Given the description of an element on the screen output the (x, y) to click on. 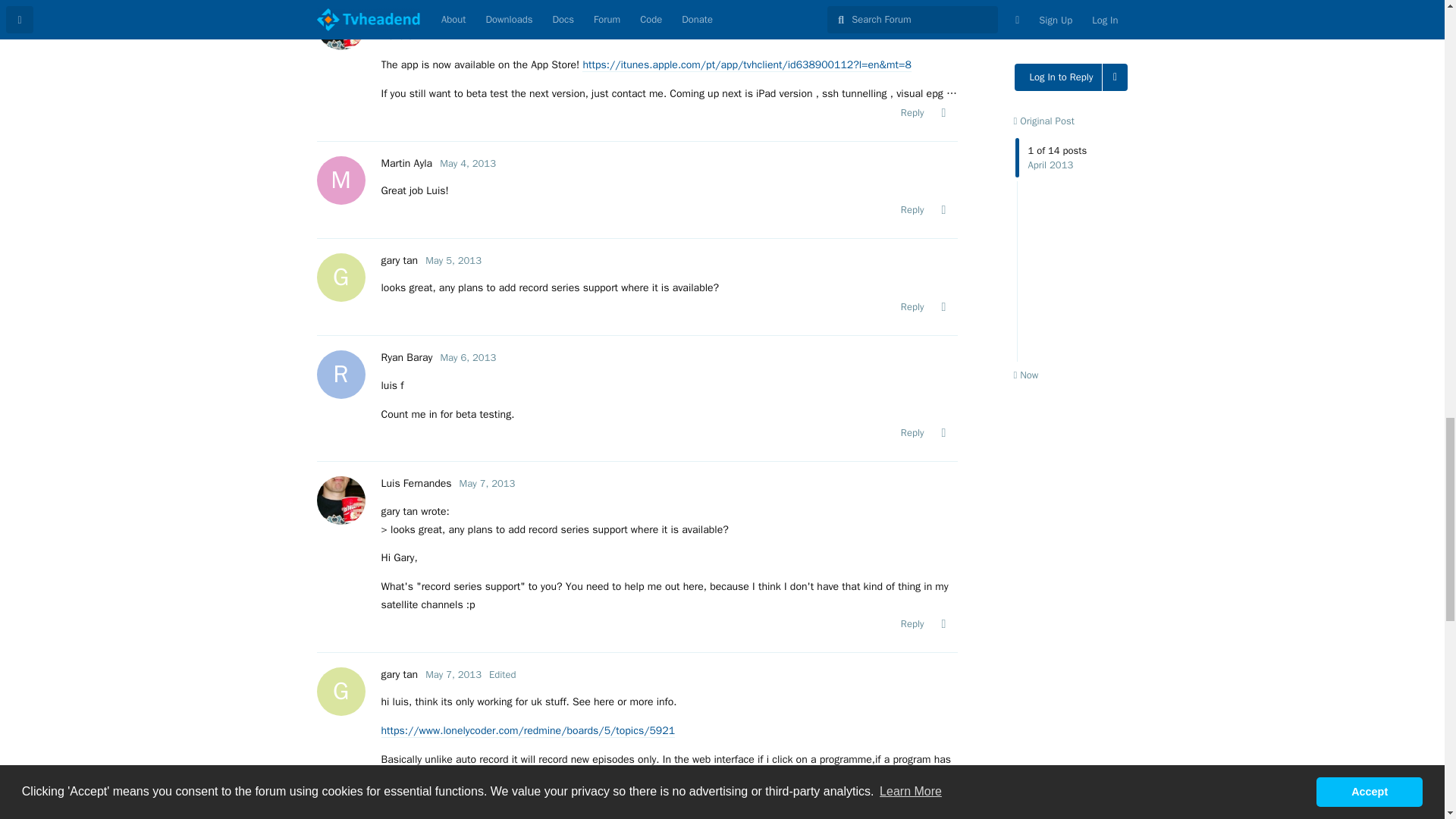
Tuesday, May 7, 2013 4:52 AM (453, 674)
Saturday, May 4, 2013 11:19 PM (487, 8)
Saturday, May 4, 2013 11:24 PM (467, 163)
Monday, May 6, 2013 10:32 PM (467, 357)
Tuesday, May 7, 2013 3:58 AM (487, 482)
Sunday, May 5, 2013 7:48 PM (453, 259)
